Given the description of an element on the screen output the (x, y) to click on. 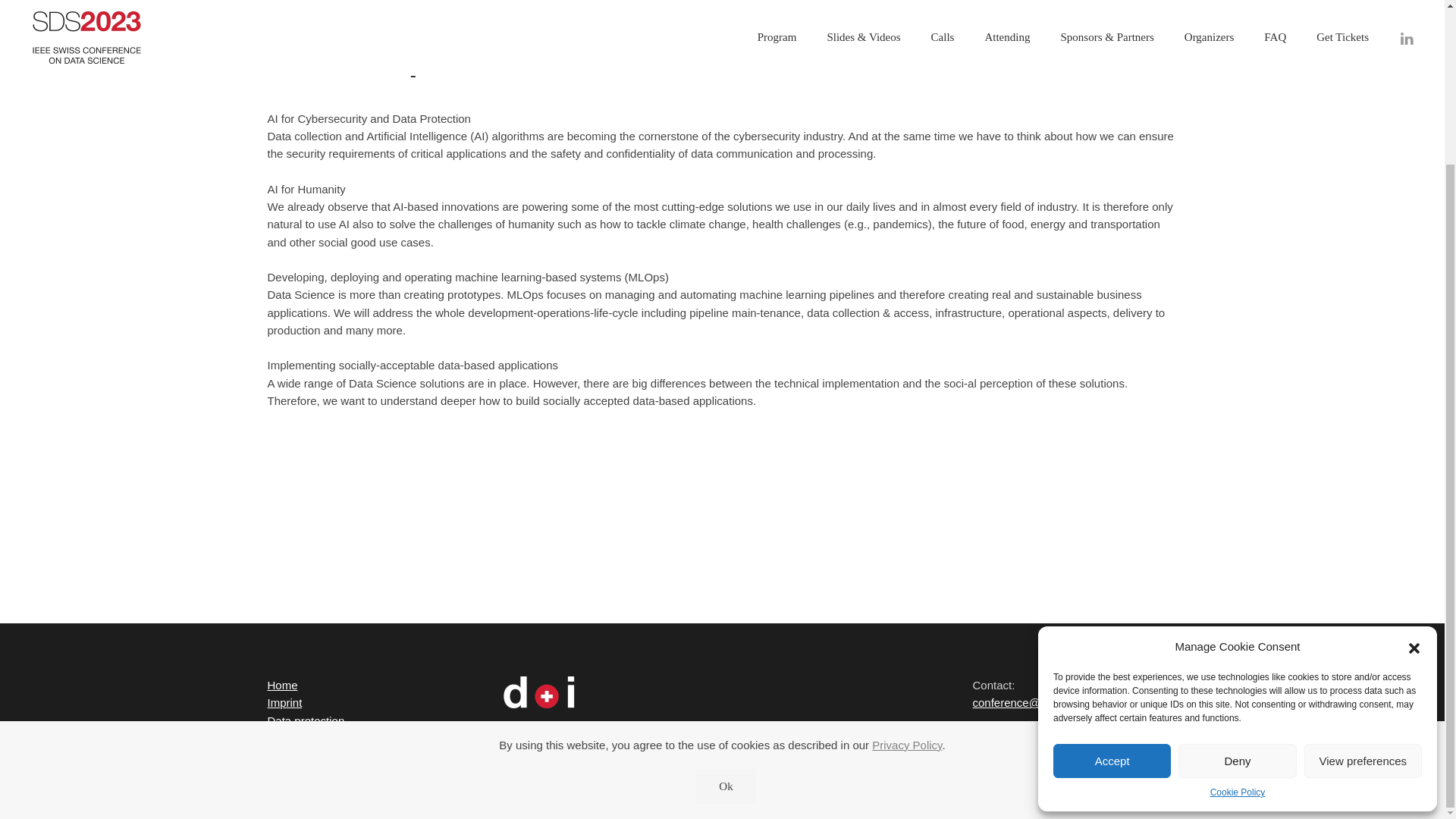
Accept (1111, 564)
Cookie Policy (1237, 596)
View preferences (1363, 564)
Deny (1236, 564)
